Given the description of an element on the screen output the (x, y) to click on. 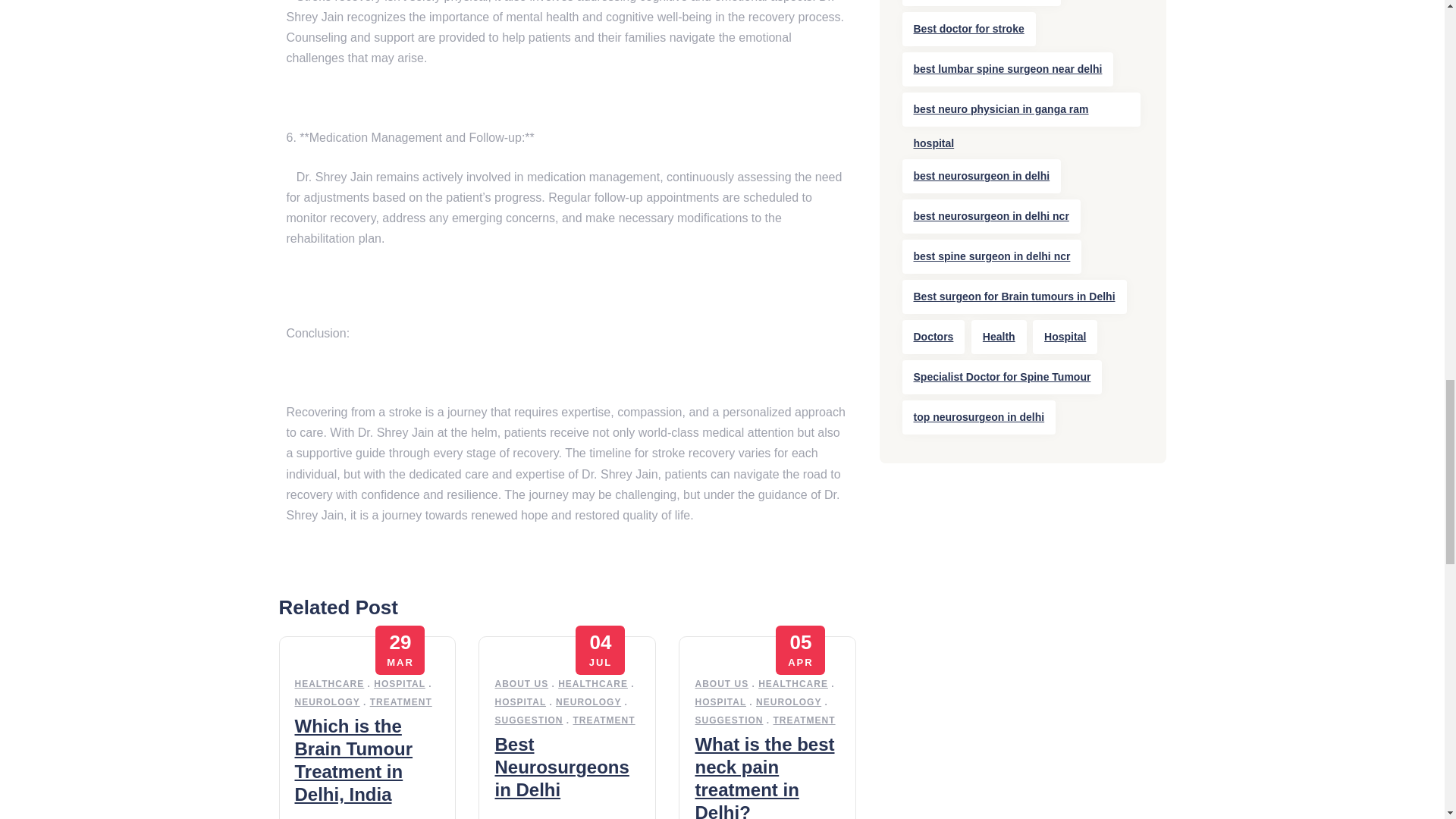
HEALTHCARE (329, 683)
TREATMENT (603, 719)
Which is the Brain Tumour Treatment in Delhi, India (353, 759)
HEALTHCARE (592, 683)
Best Neurosurgeons in Delhi (561, 766)
HEALTHCARE (793, 683)
NEUROLOGY (588, 701)
HOSPITAL (719, 701)
NEUROLOGY (788, 701)
ABOUT US (721, 683)
NEUROLOGY (326, 701)
TREATMENT (400, 701)
SUGGESTION (528, 719)
ABOUT US (521, 683)
HOSPITAL (520, 701)
